Given the description of an element on the screen output the (x, y) to click on. 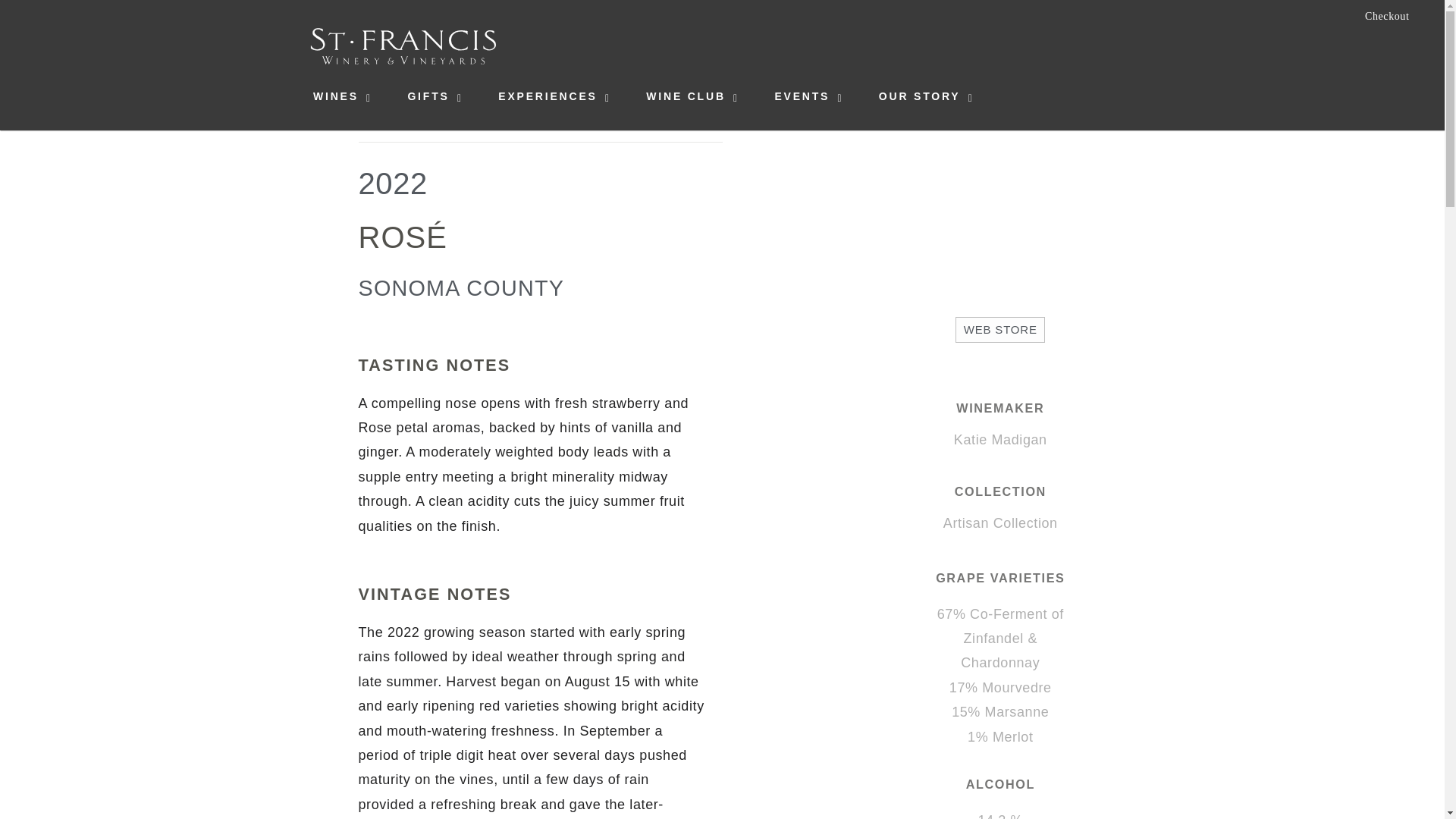
EXPERIENCES (546, 96)
Checkout (1387, 16)
Learn about how we are sustainable. (1388, 47)
Artisan Collection (1000, 522)
WINES (335, 96)
GIFTS (427, 96)
Katie Madigan (999, 439)
